Given the description of an element on the screen output the (x, y) to click on. 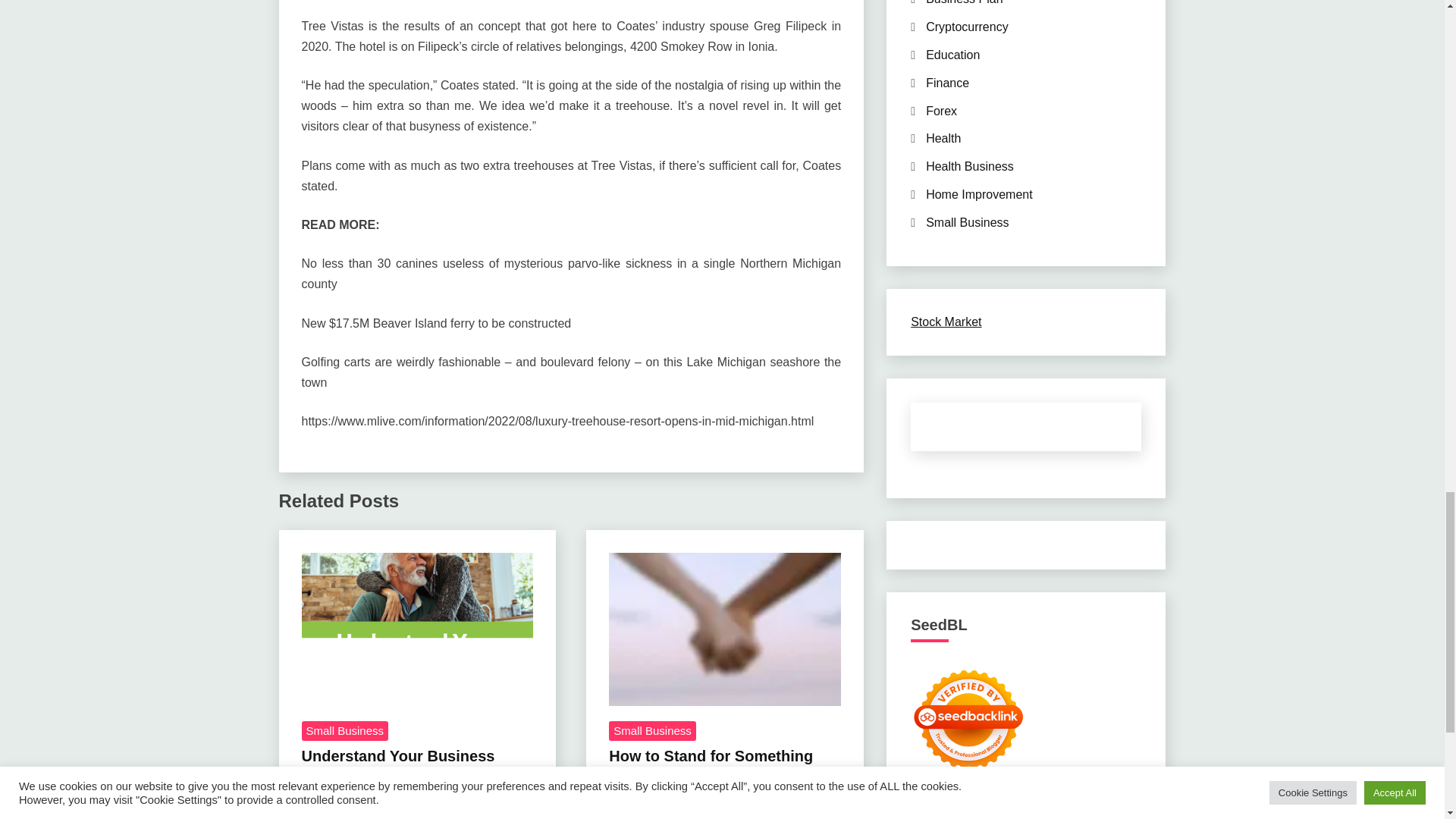
November 30, 2023 (355, 814)
How to Stand for Something Without Being a Target (724, 628)
Small Business (344, 731)
November 29, 2023 (662, 797)
How to Stand for Something Without Being a Target (710, 764)
Small Business (651, 731)
Seedbacklink (968, 719)
